Given the description of an element on the screen output the (x, y) to click on. 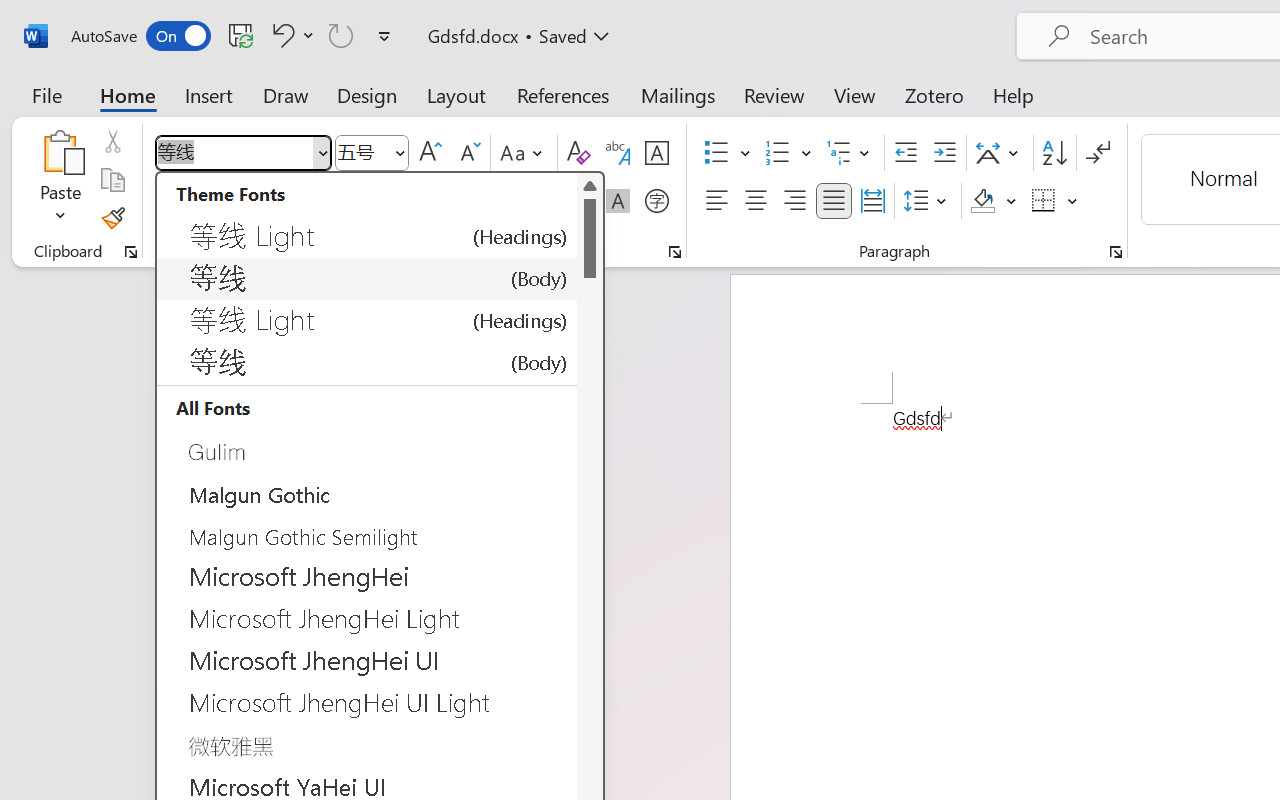
Enclose Characters... (656, 201)
Shading RGB(0, 0, 0) (982, 201)
Font... (675, 252)
Text Highlight Color Yellow (495, 201)
Character Border (656, 153)
